Given the description of an element on the screen output the (x, y) to click on. 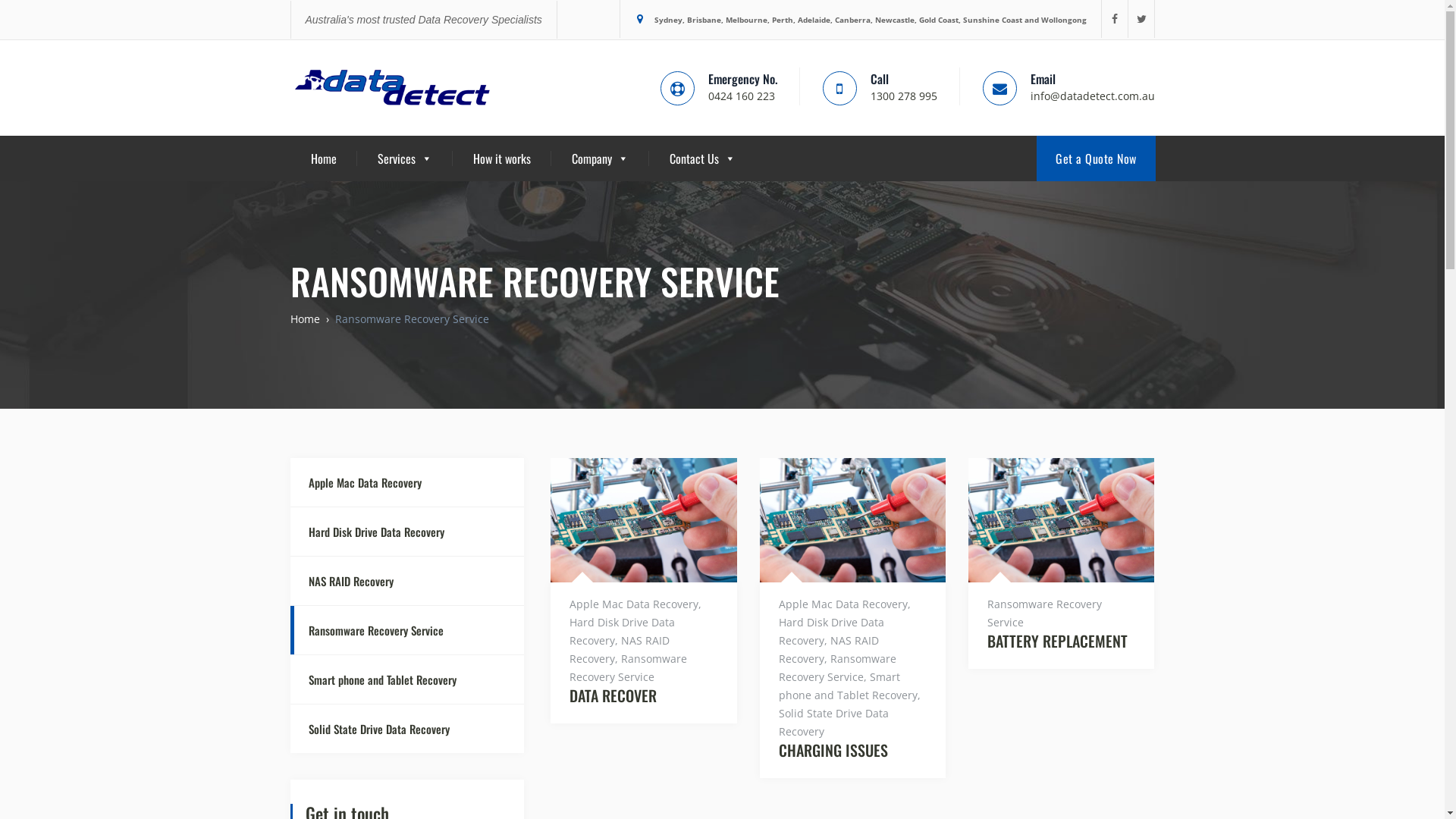
Home Element type: text (304, 317)
Hard Disk Drive Data Recovery Element type: text (406, 531)
Contact Us Element type: text (701, 158)
Ransomware Recovery Service Element type: text (1044, 612)
1300 278 995 Element type: text (903, 95)
BATTERY REPLACEMENT Element type: text (1061, 640)
Smart phone and Tablet Recovery Element type: text (847, 685)
DATA RECOVER Element type: text (643, 695)
0424 160 223 Element type: text (741, 95)
Apple Mac Data Recovery Element type: text (633, 603)
CHARGING ISSUES Element type: text (852, 749)
NAS RAID Recovery Element type: text (619, 649)
Ransomware Recovery Service Element type: text (406, 629)
Services Element type: text (404, 158)
Company Element type: text (599, 158)
How it works Element type: text (501, 158)
NAS RAID Recovery Element type: text (406, 580)
Ransomware Recovery Service Element type: text (628, 667)
Hard Disk Drive Data Recovery Element type: text (831, 631)
NAS RAID Recovery Element type: text (828, 649)
Apple Mac Data Recovery Element type: text (842, 603)
Home Element type: text (323, 158)
Smart phone and Tablet Recovery Element type: text (406, 679)
info@datadetect.com.au Element type: text (1091, 95)
Solid State Drive Data Recovery Element type: text (833, 722)
Apple Mac Data Recovery Element type: text (406, 482)
Hard Disk Drive Data Recovery Element type: text (621, 631)
Get a Quote Now Element type: text (1095, 158)
Data Detect Element type: hover (392, 87)
Solid State Drive Data Recovery Element type: text (406, 728)
Ransomware Recovery Service Element type: text (837, 667)
